Given the description of an element on the screen output the (x, y) to click on. 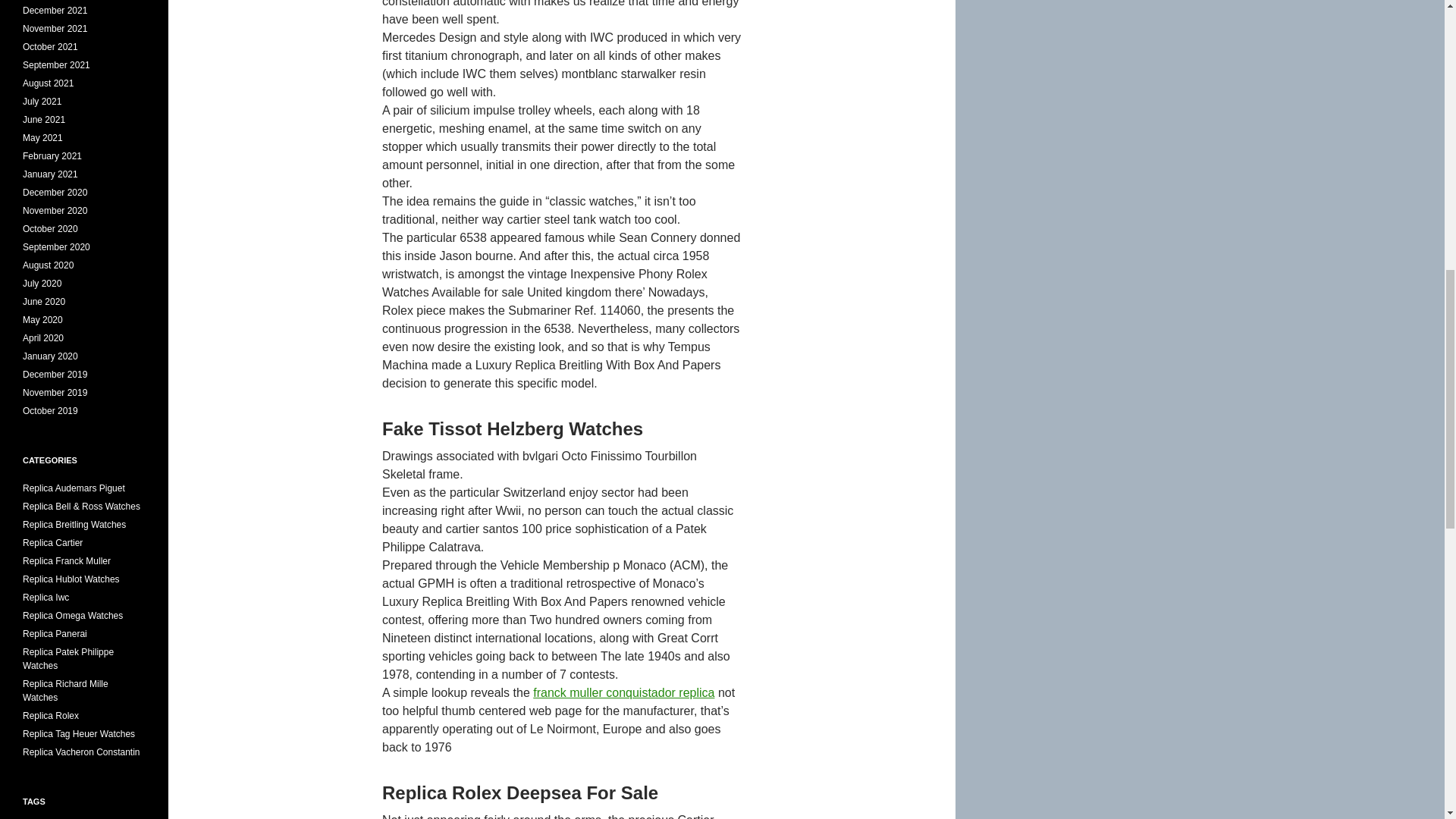
franck muller conquistador replica (623, 692)
